Given the description of an element on the screen output the (x, y) to click on. 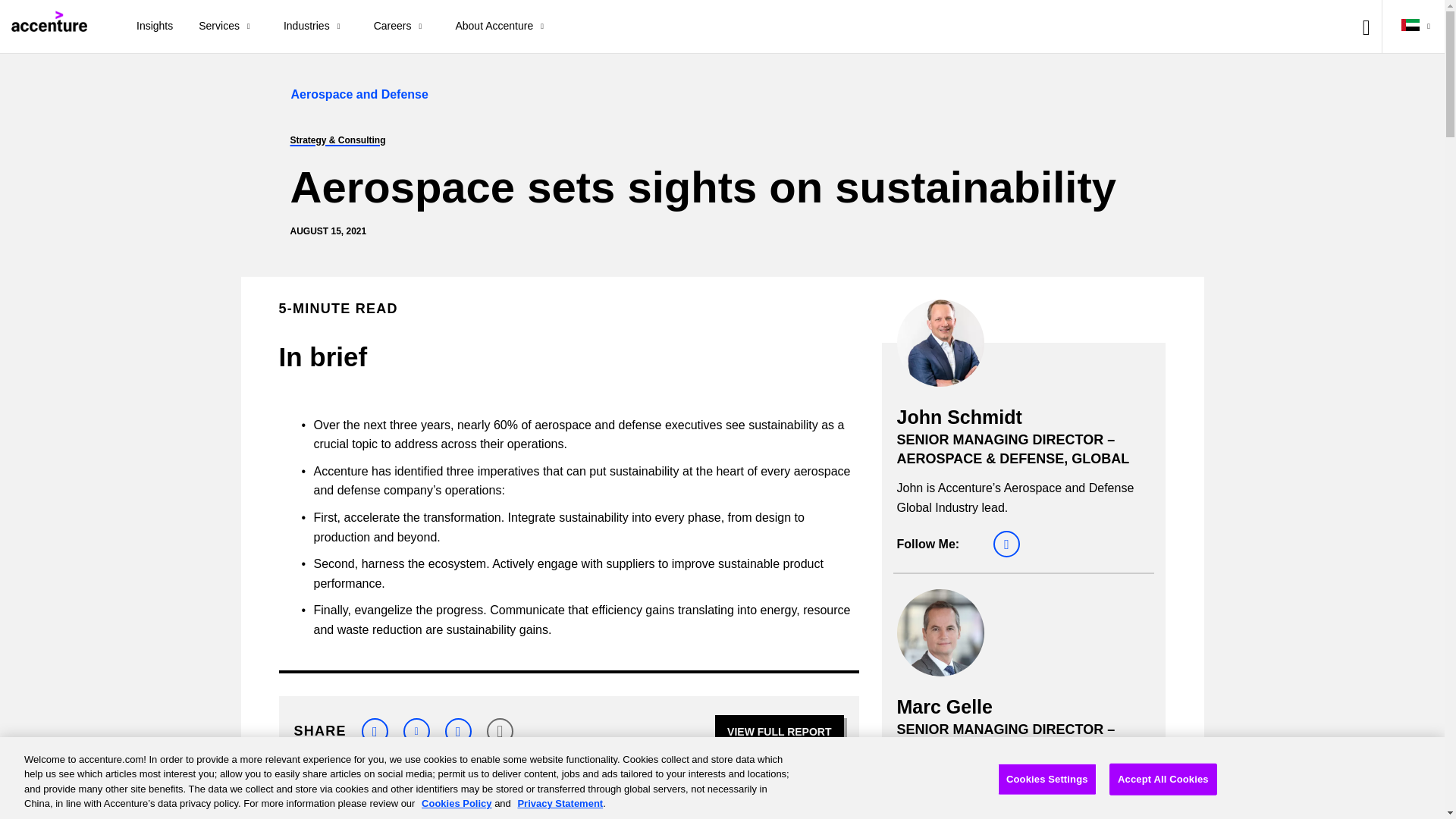
Services (228, 26)
Insights (154, 26)
Industries (315, 26)
